Given the description of an element on the screen output the (x, y) to click on. 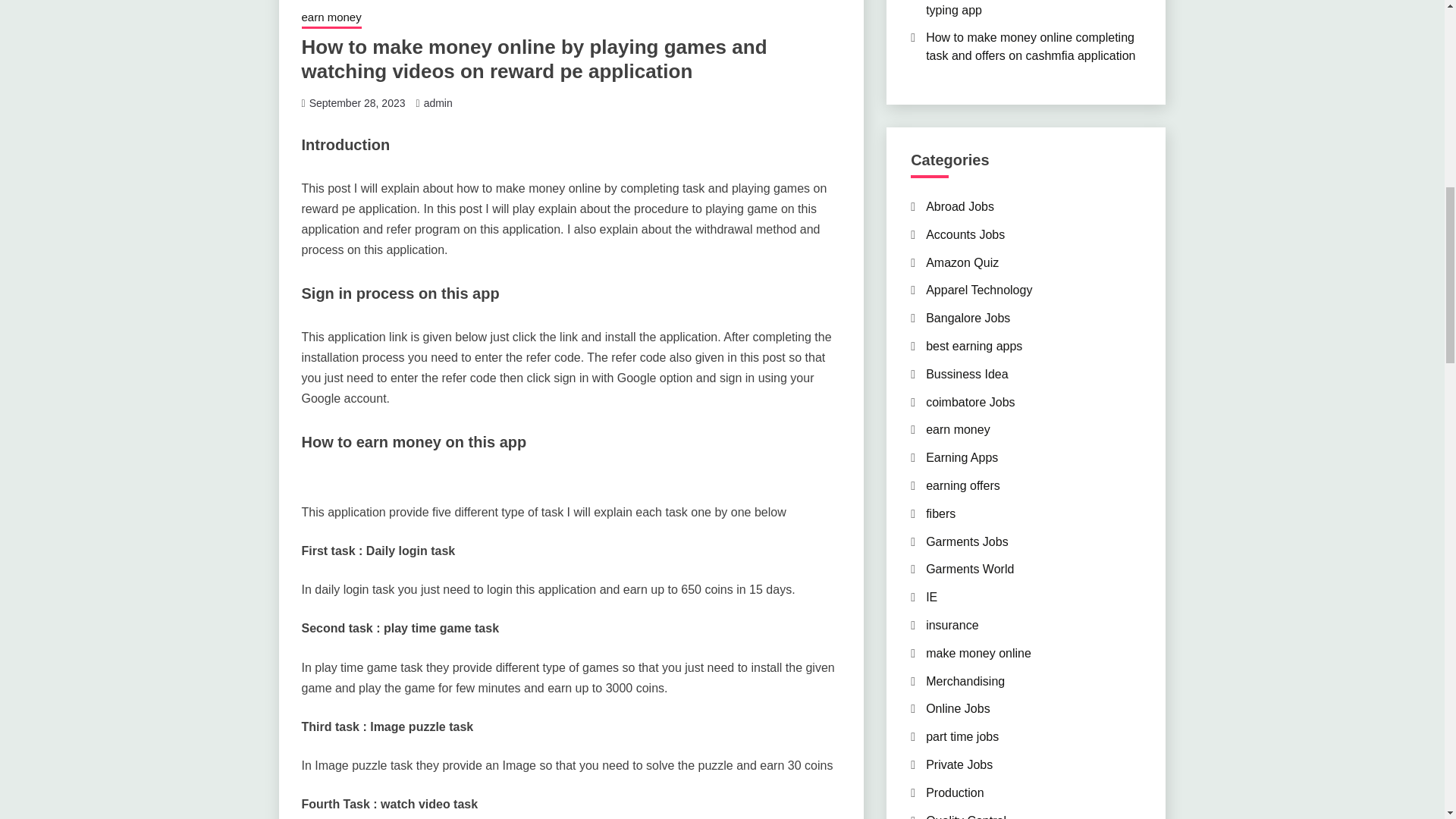
September 28, 2023 (357, 102)
earn money (331, 18)
admin (437, 102)
